Given the description of an element on the screen output the (x, y) to click on. 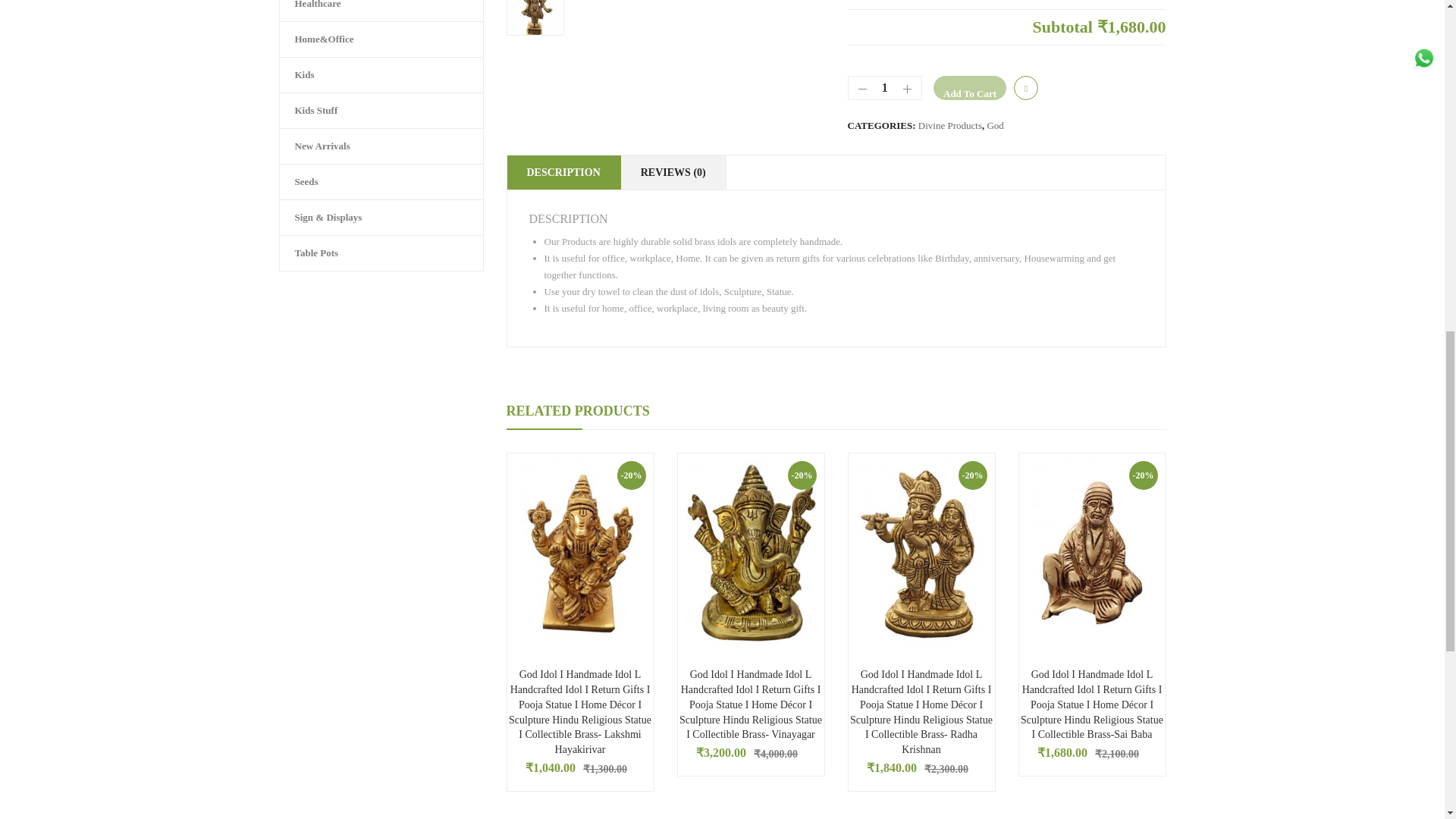
1 (884, 87)
Add To WishList (1025, 87)
- (858, 91)
Qty (884, 87)
